Given the description of an element on the screen output the (x, y) to click on. 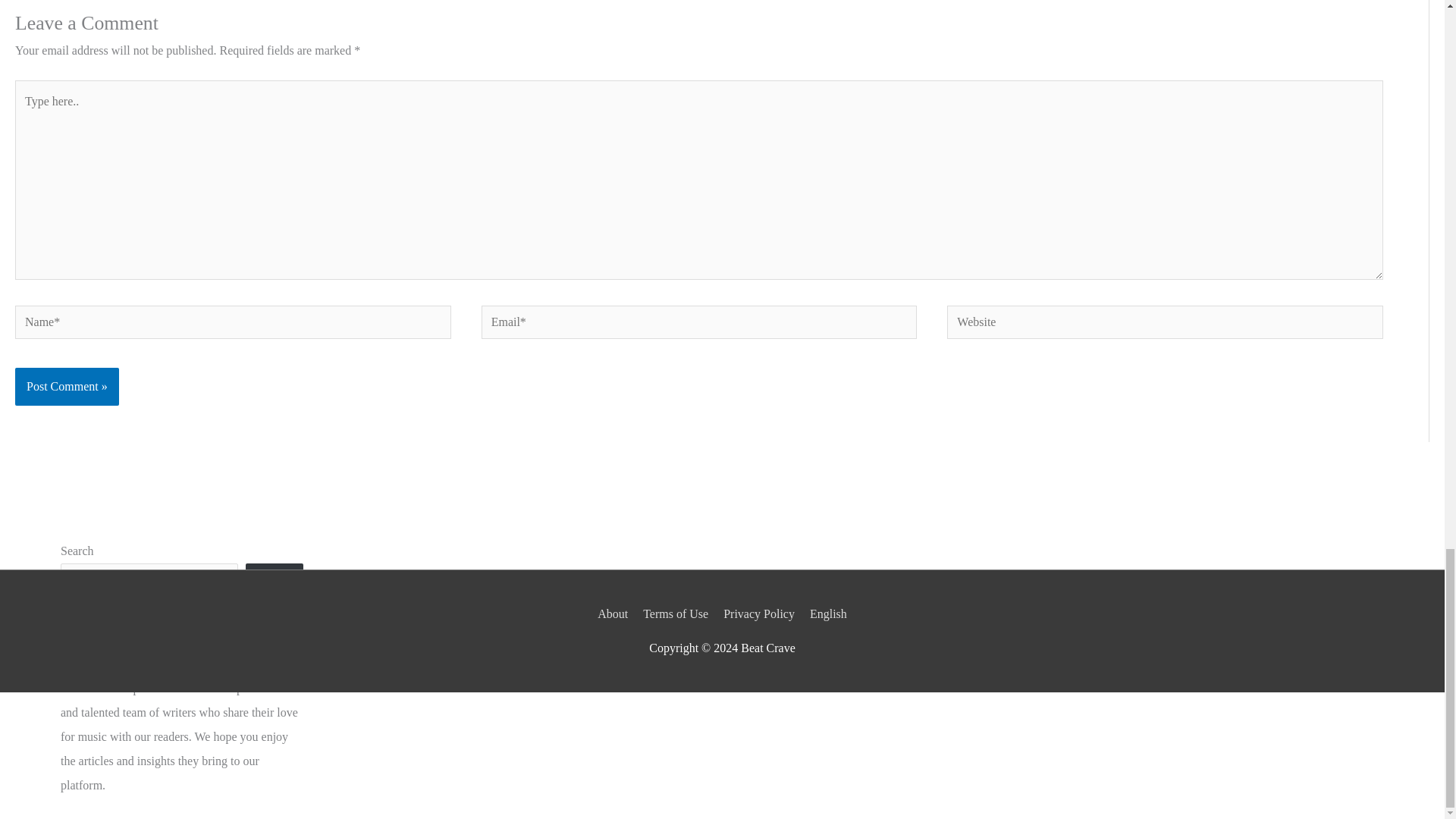
Privacy Policy (758, 613)
Search (274, 583)
English (825, 613)
About (614, 613)
Terms of Use (675, 613)
